Given the description of an element on the screen output the (x, y) to click on. 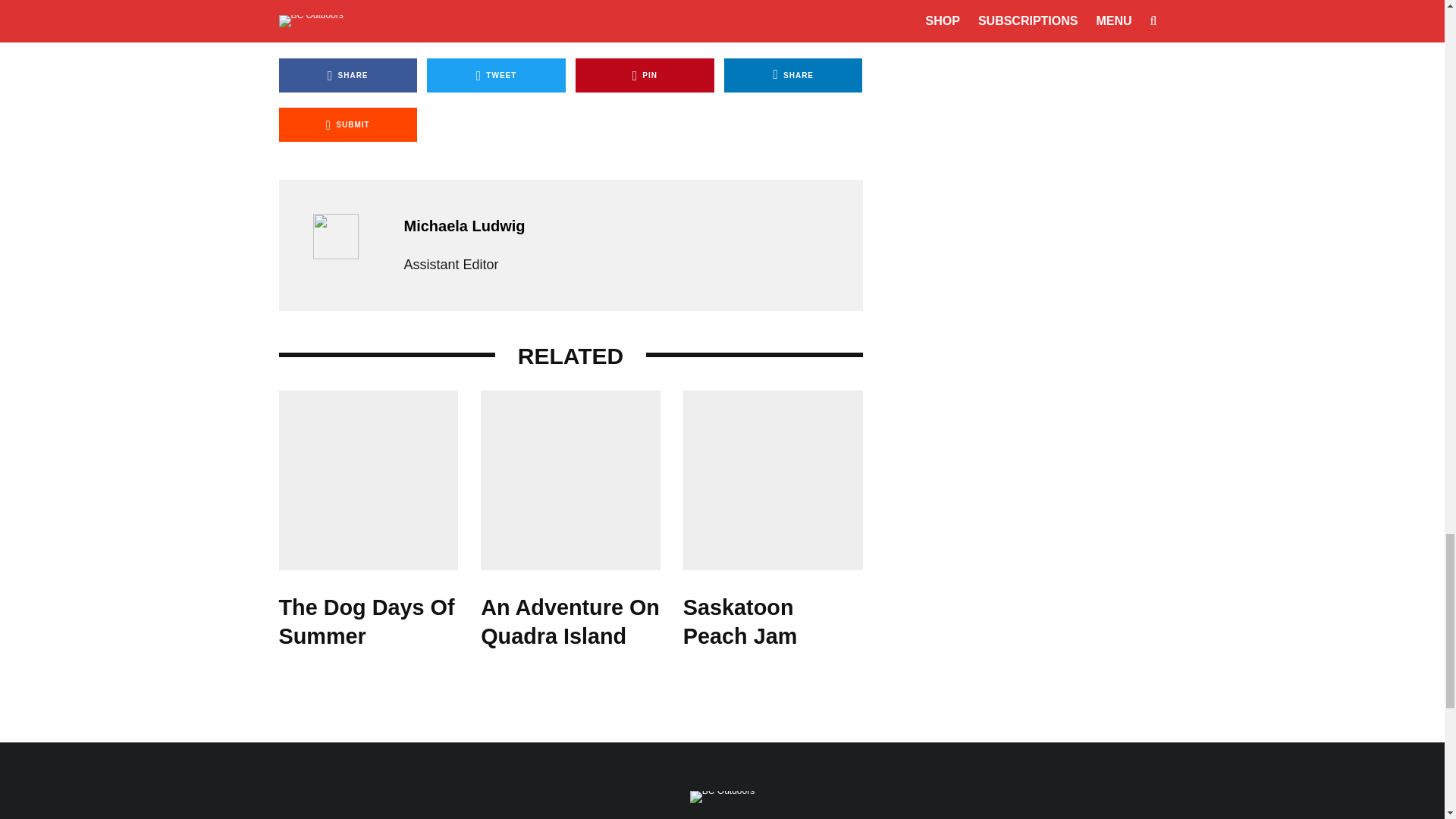
TWEET (496, 75)
SHARE (348, 75)
PIN (644, 75)
